Given the description of an element on the screen output the (x, y) to click on. 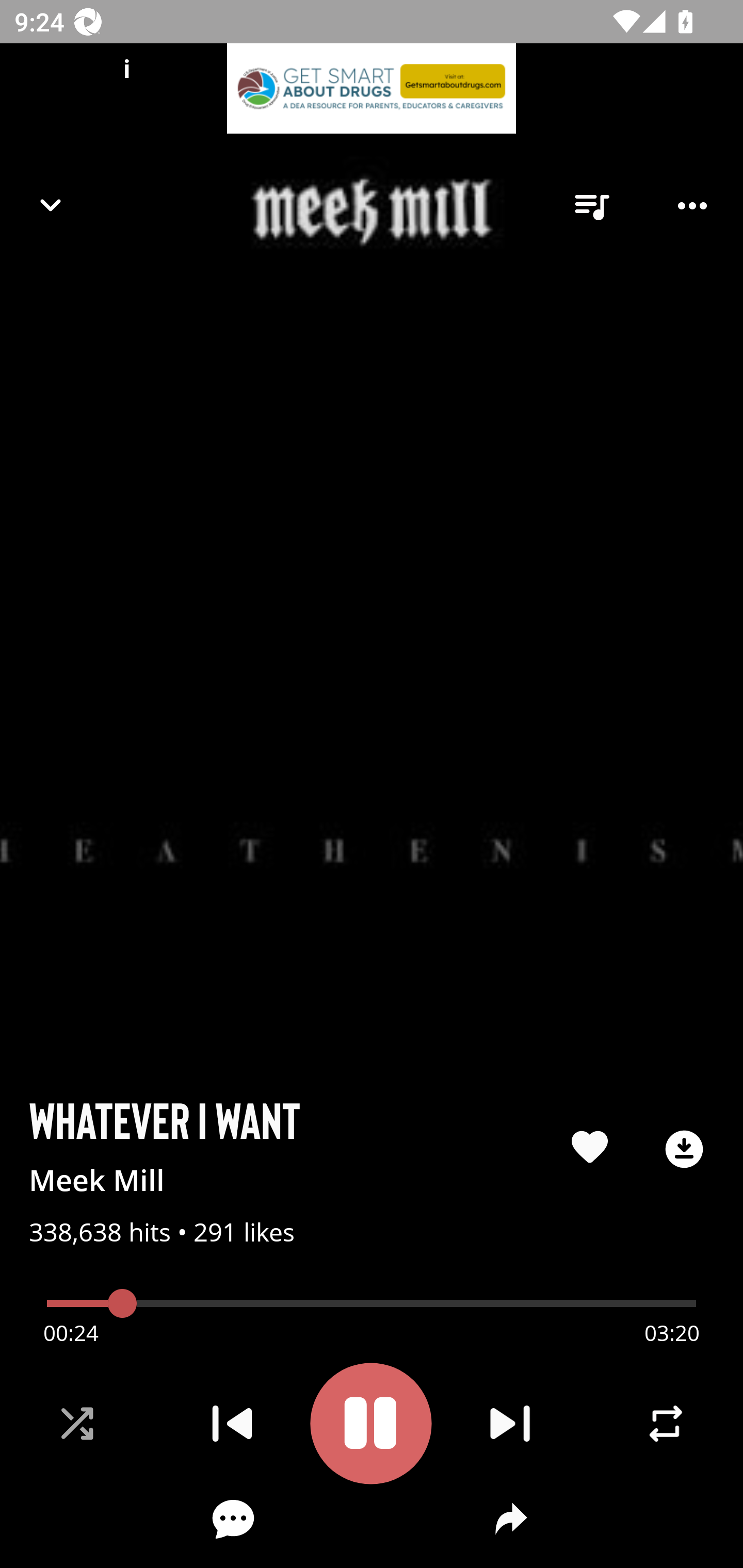
Navigate up (50, 205)
queue (590, 206)
Player options (692, 206)
